Given the description of an element on the screen output the (x, y) to click on. 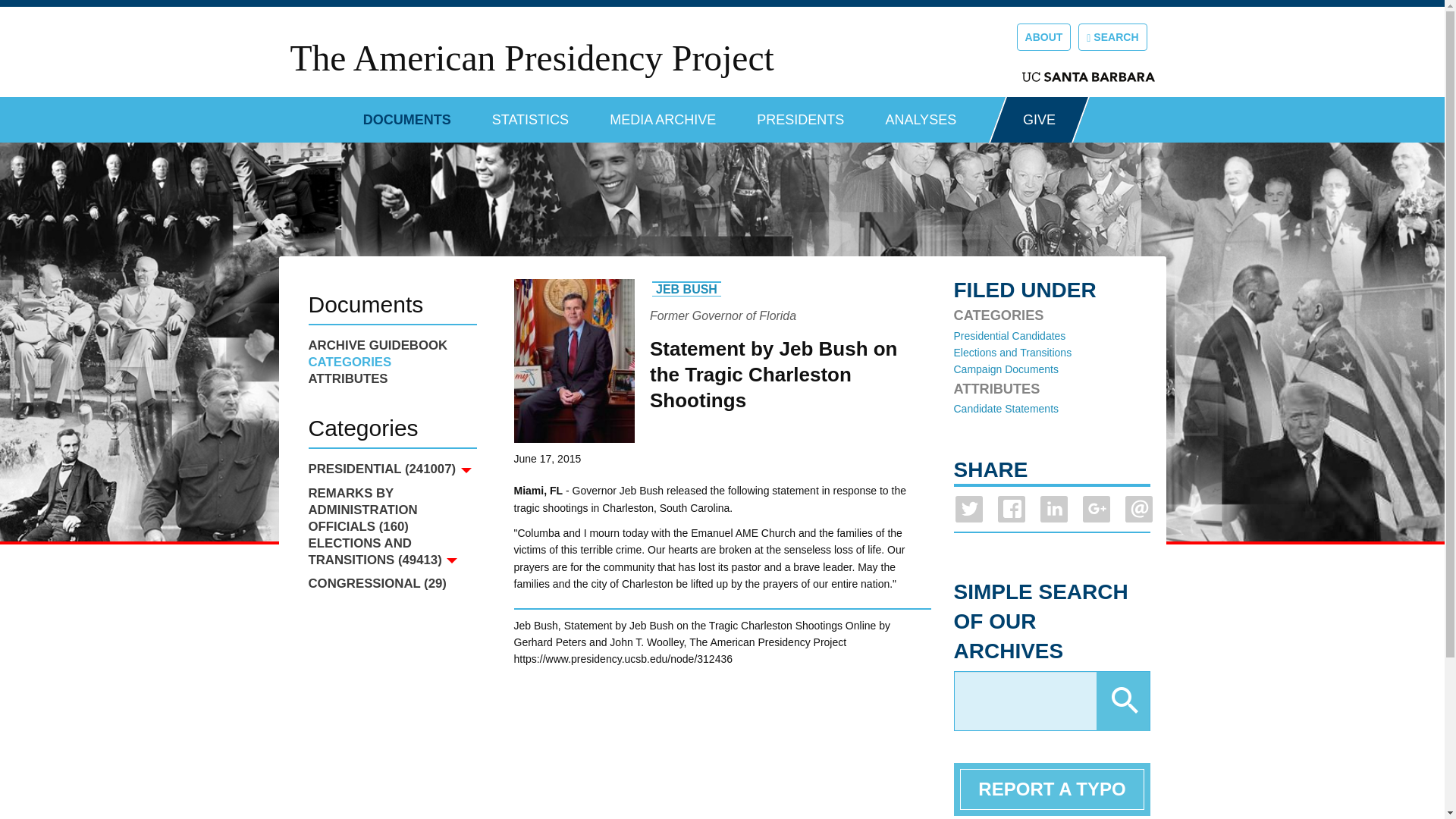
The American Presidency Project (531, 57)
STATISTICS (530, 113)
ATTRIBUTES (391, 379)
 SEARCH (1112, 36)
DOCUMENTS (406, 113)
ARCHIVE GUIDEBOOK (391, 345)
PRESIDENTS (800, 113)
MEDIA ARCHIVE (663, 113)
ABOUT (1043, 36)
GIVE (1038, 119)
CATEGORIES (391, 362)
ANALYSES (920, 113)
